Given the description of an element on the screen output the (x, y) to click on. 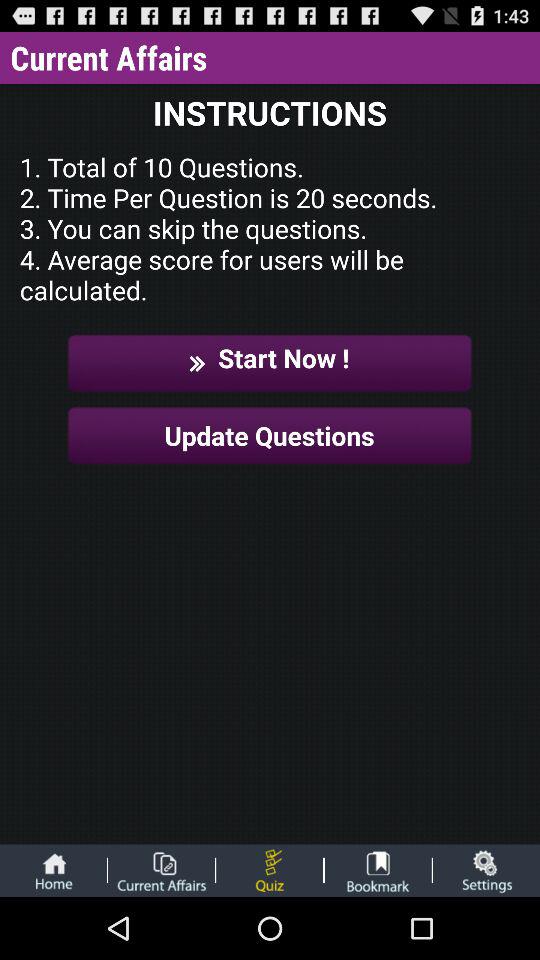
tap the icon below the update questions (53, 870)
